Given the description of an element on the screen output the (x, y) to click on. 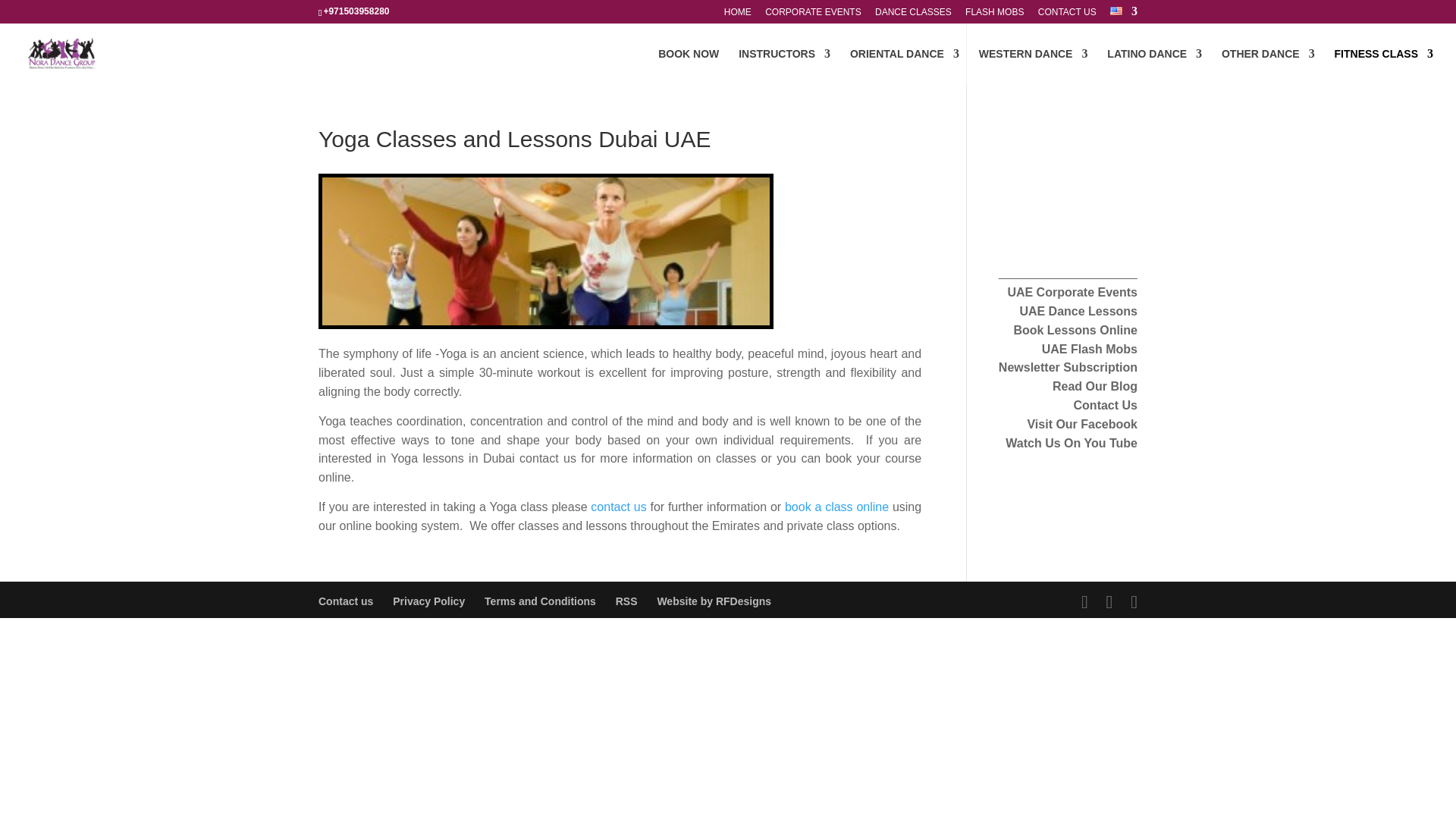
Dancing Lessons In Dubai UAE (1078, 311)
BOOK NOW (688, 66)
FITNESS CLASS (1383, 66)
Dance Classes in UAE (1075, 329)
CORPORATE EVENTS (812, 15)
ORIENTAL DANCE (904, 66)
Corporate Events Dubai Company Entertainment (1072, 292)
Yoga Classes and Lessons Dubai UAE (545, 251)
Dubai Flash Mob Performance Company (1089, 349)
Nora Dance Dancing Blog Dubai United Arab Emirates (1094, 386)
CONTACT US (1067, 15)
INSTRUCTORS (783, 66)
HOME (737, 15)
English (1115, 10)
Dancing Lessons Dubai UAE (618, 506)
